Given the description of an element on the screen output the (x, y) to click on. 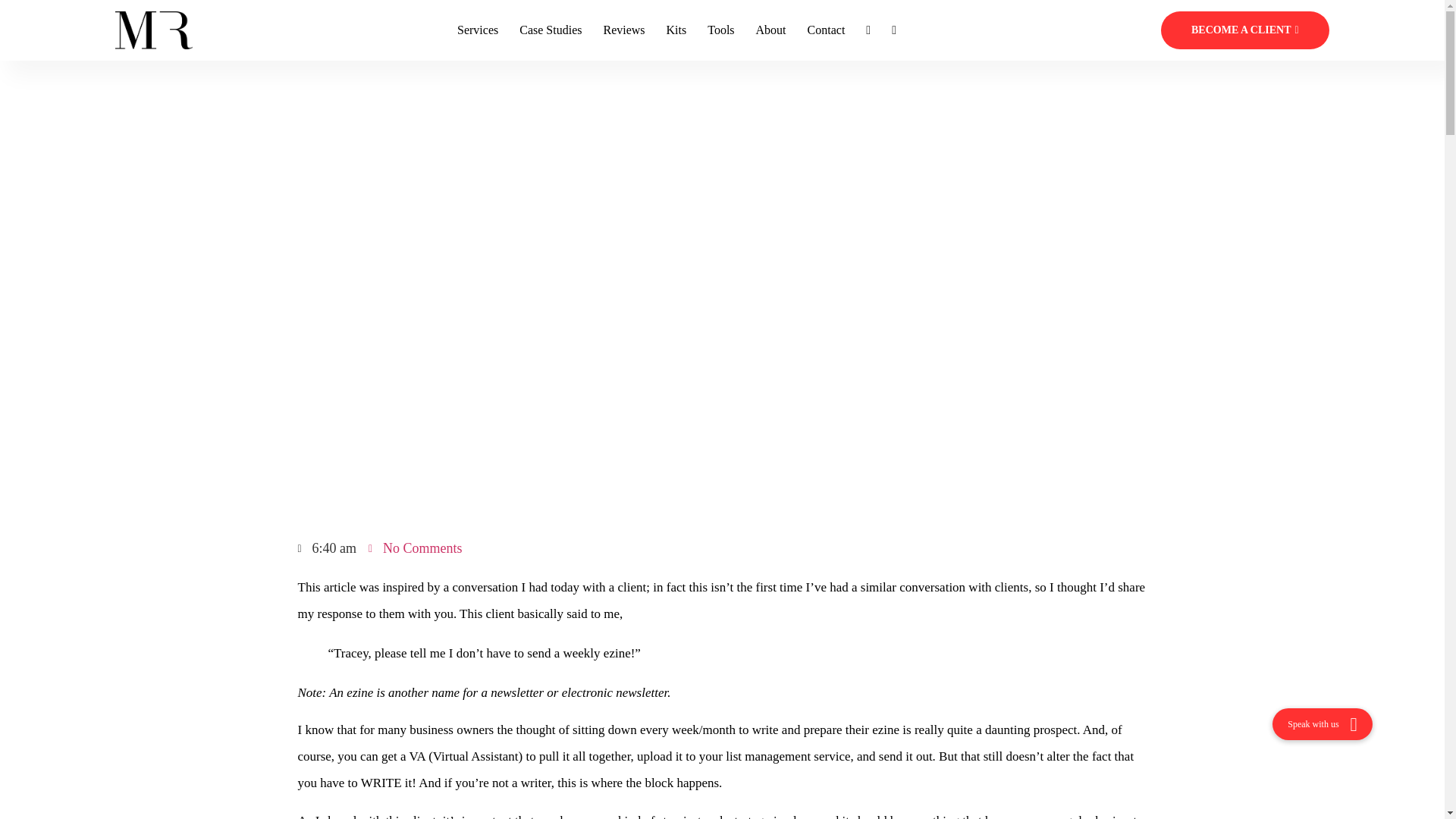
Case Studies (549, 30)
Reviews (623, 30)
Services (477, 30)
